Given the description of an element on the screen output the (x, y) to click on. 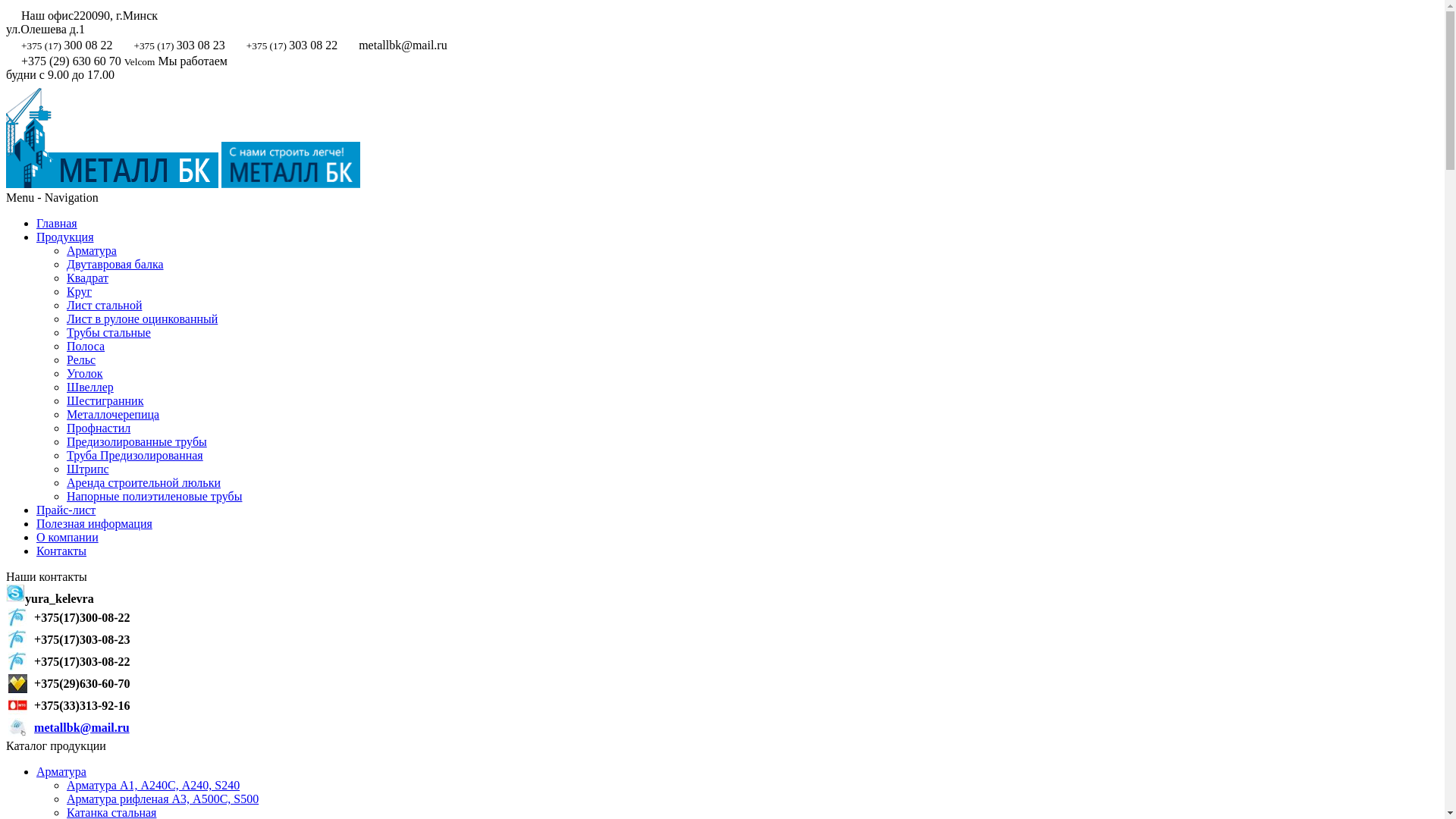
metallbk@mail.ru Element type: text (81, 726)
